Given the description of an element on the screen output the (x, y) to click on. 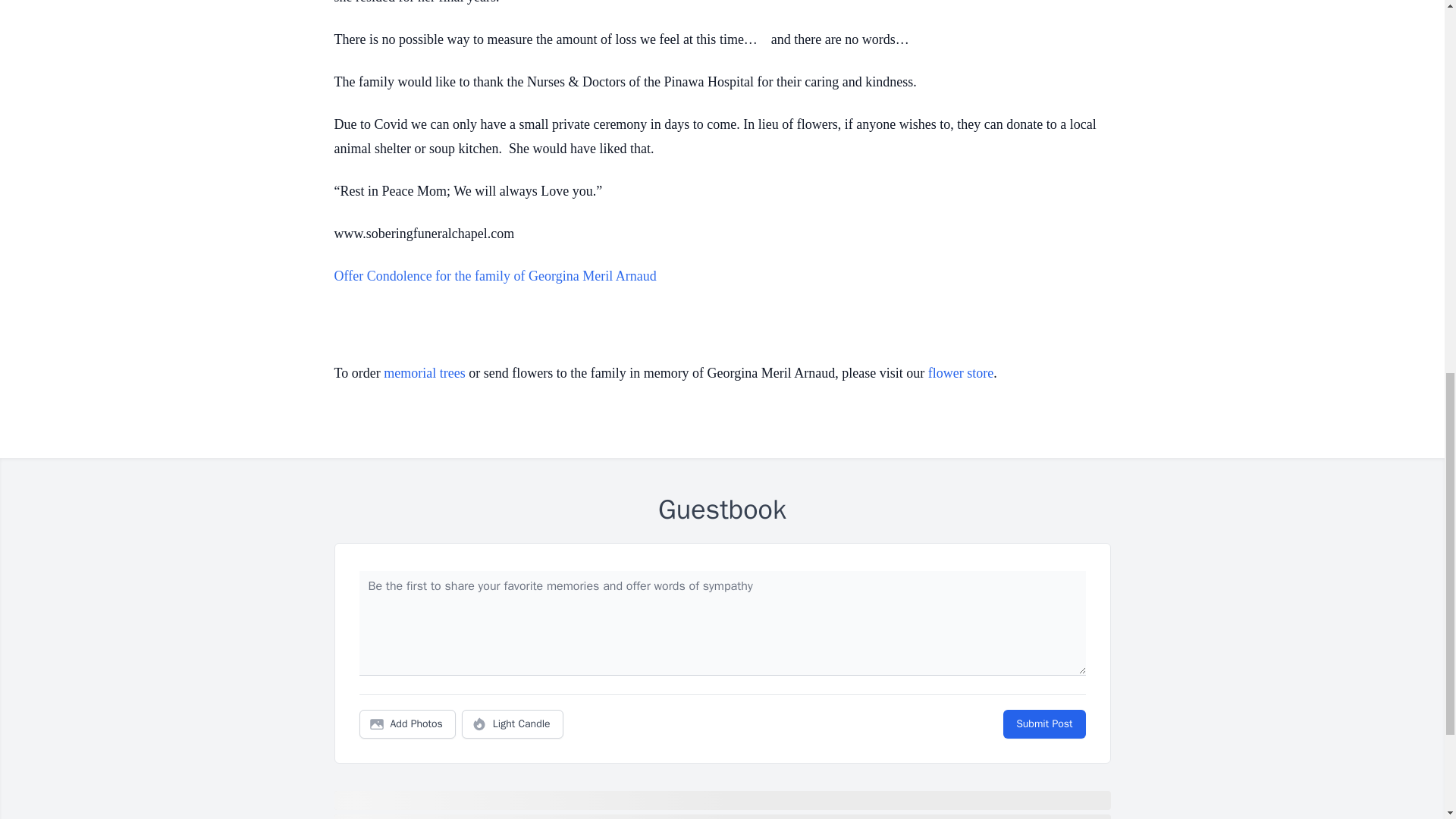
memorial trees (424, 372)
flower store (960, 372)
Add Photos (407, 724)
Submit Post (1043, 724)
Light Candle (512, 724)
Offer Condolence for the family of Georgina Meril Arnaud (494, 275)
